Given the description of an element on the screen output the (x, y) to click on. 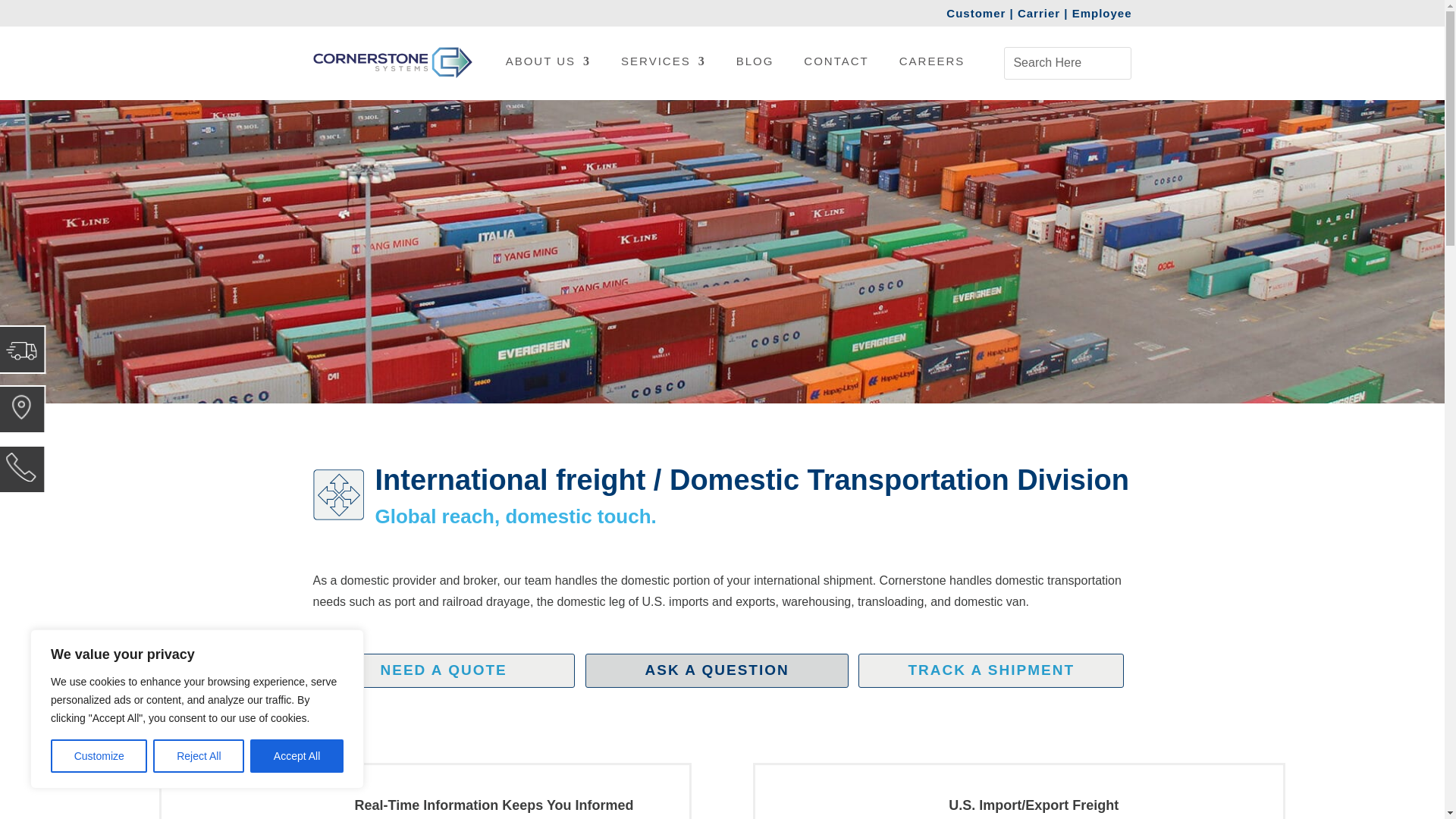
Carrier (1038, 12)
CAREERS (932, 64)
Employee (1101, 12)
ABOUT US (548, 64)
SERVICES (663, 64)
BLOG (755, 64)
Reject All (198, 756)
Customer (977, 12)
CONTACT (835, 64)
Customize (98, 756)
Accept All (296, 756)
